Given the description of an element on the screen output the (x, y) to click on. 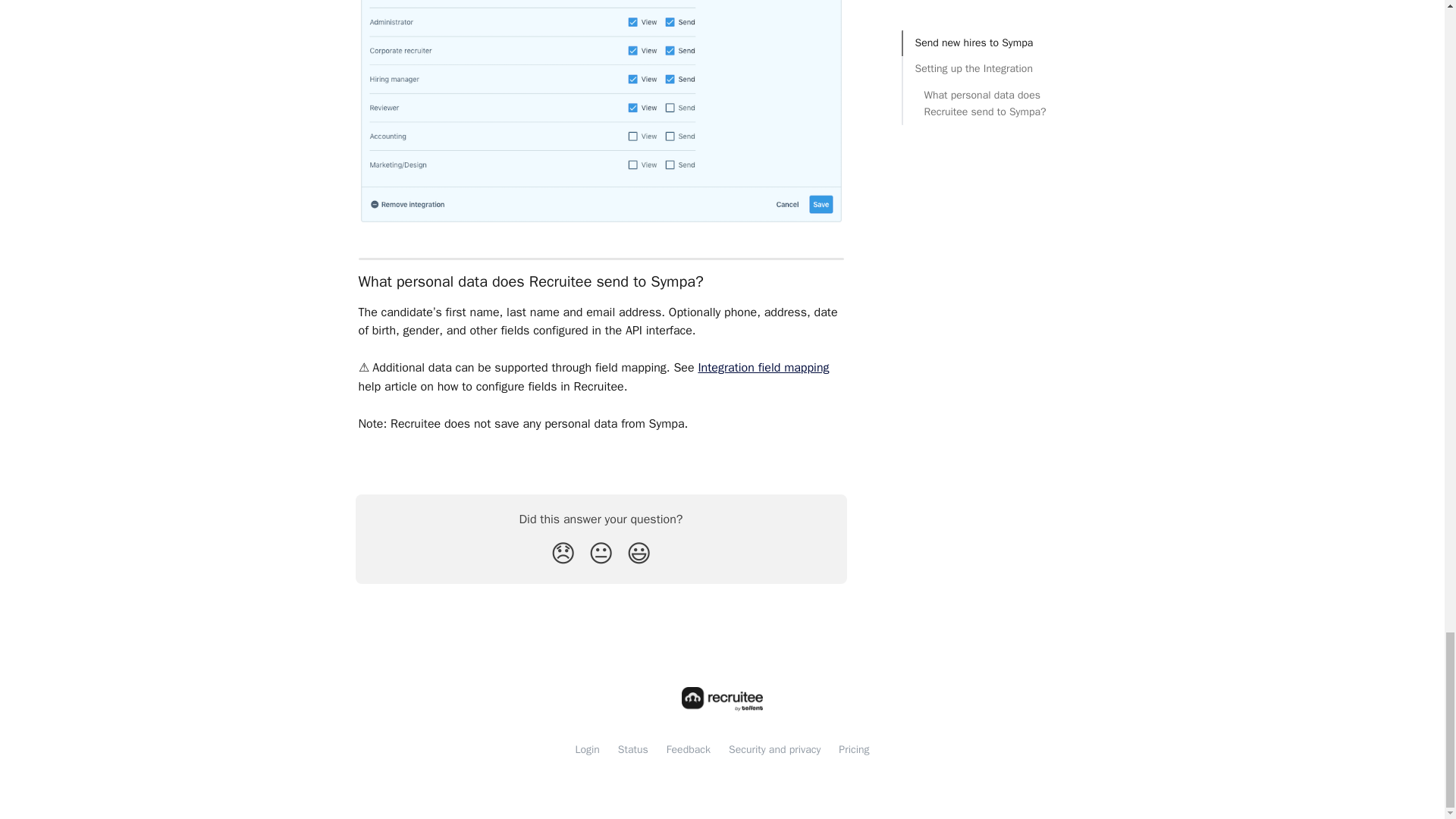
Smiley (638, 553)
Neutral (600, 553)
Status (632, 748)
Disappointed (562, 553)
Security and privacy (775, 748)
Feedback (688, 748)
Login (586, 748)
Integration field mapping (762, 367)
Pricing (853, 748)
